Given the description of an element on the screen output the (x, y) to click on. 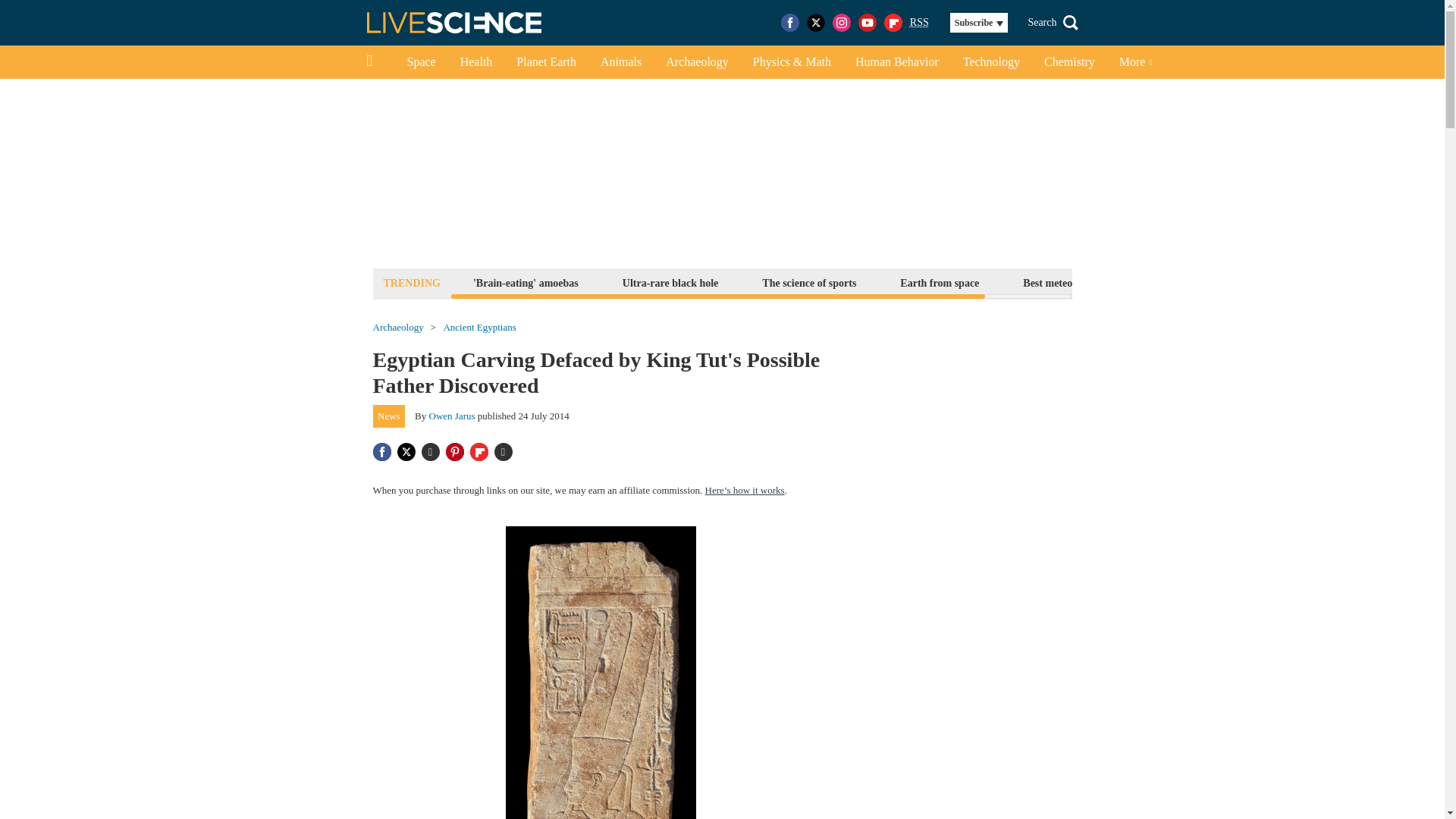
Archaeology (397, 327)
Chemistry (1069, 61)
Technology (991, 61)
Health (476, 61)
News (389, 415)
Planet Earth (545, 61)
RSS (919, 22)
Archaeology (697, 61)
Animals (620, 61)
Ultra-rare black hole (670, 282)
The science of sports (809, 282)
Really Simple Syndication (919, 21)
'Brain-eating' amoebas (525, 282)
Human Behavior (896, 61)
Earth from space (939, 282)
